Given the description of an element on the screen output the (x, y) to click on. 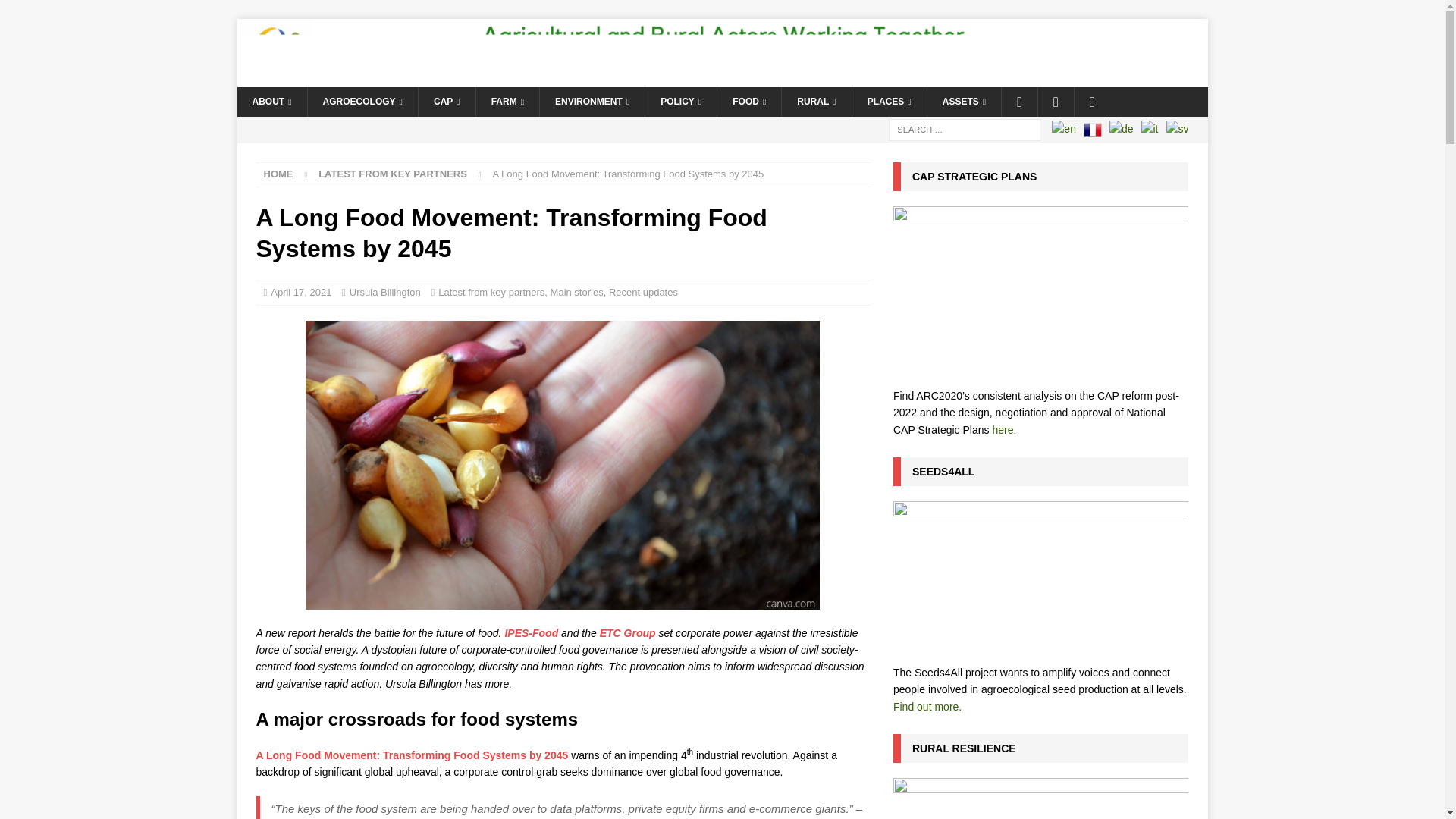
CAP (446, 101)
ABOUT (270, 101)
FARM (507, 101)
Agricultural and Rural Convention (721, 78)
Latest from key partners (392, 173)
AGROECOLOGY (362, 101)
ENVIRONMENT (591, 101)
POLICY (680, 101)
Home (278, 173)
